Given the description of an element on the screen output the (x, y) to click on. 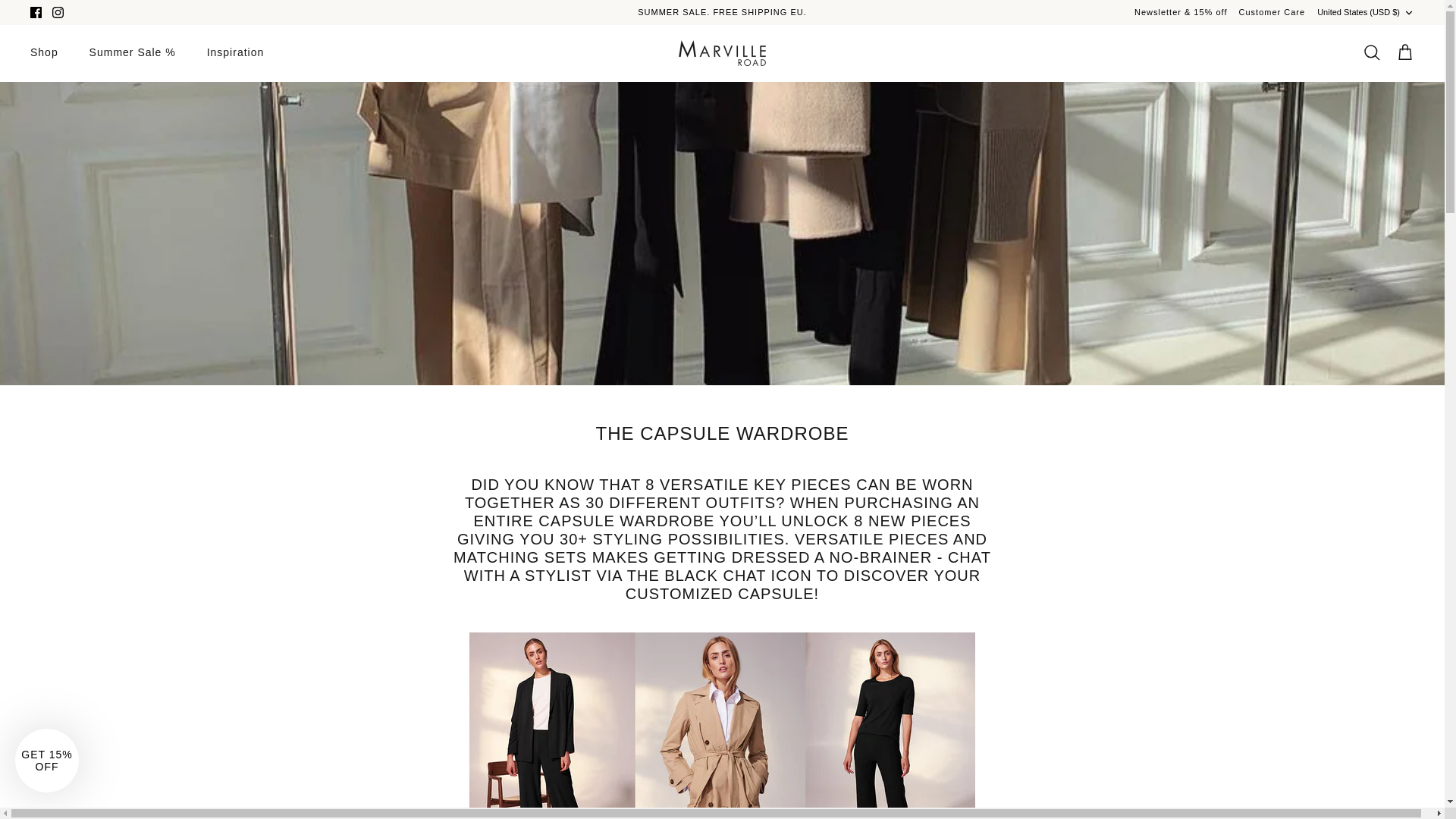
Instagram (58, 12)
Shop (43, 51)
Inspiration (235, 51)
Instagram (58, 12)
Facebook (36, 12)
Down (1408, 12)
Marville Road (721, 53)
Facebook (36, 12)
Customer Care (1272, 12)
